Given the description of an element on the screen output the (x, y) to click on. 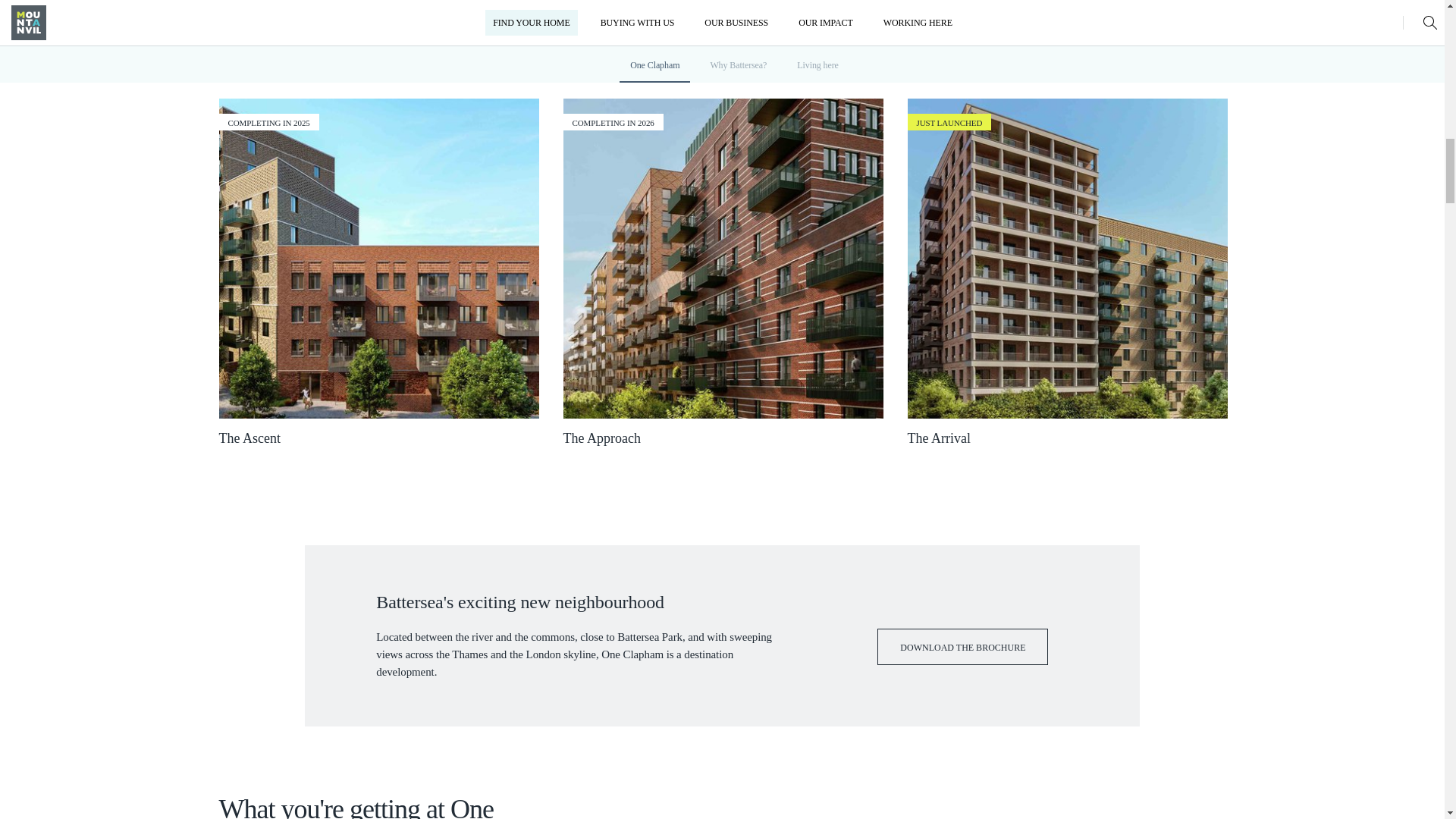
The Ascent (378, 258)
DOWNLOAD THE BROCHURE (962, 646)
The Arrival (1067, 258)
The Approach (722, 258)
